Given the description of an element on the screen output the (x, y) to click on. 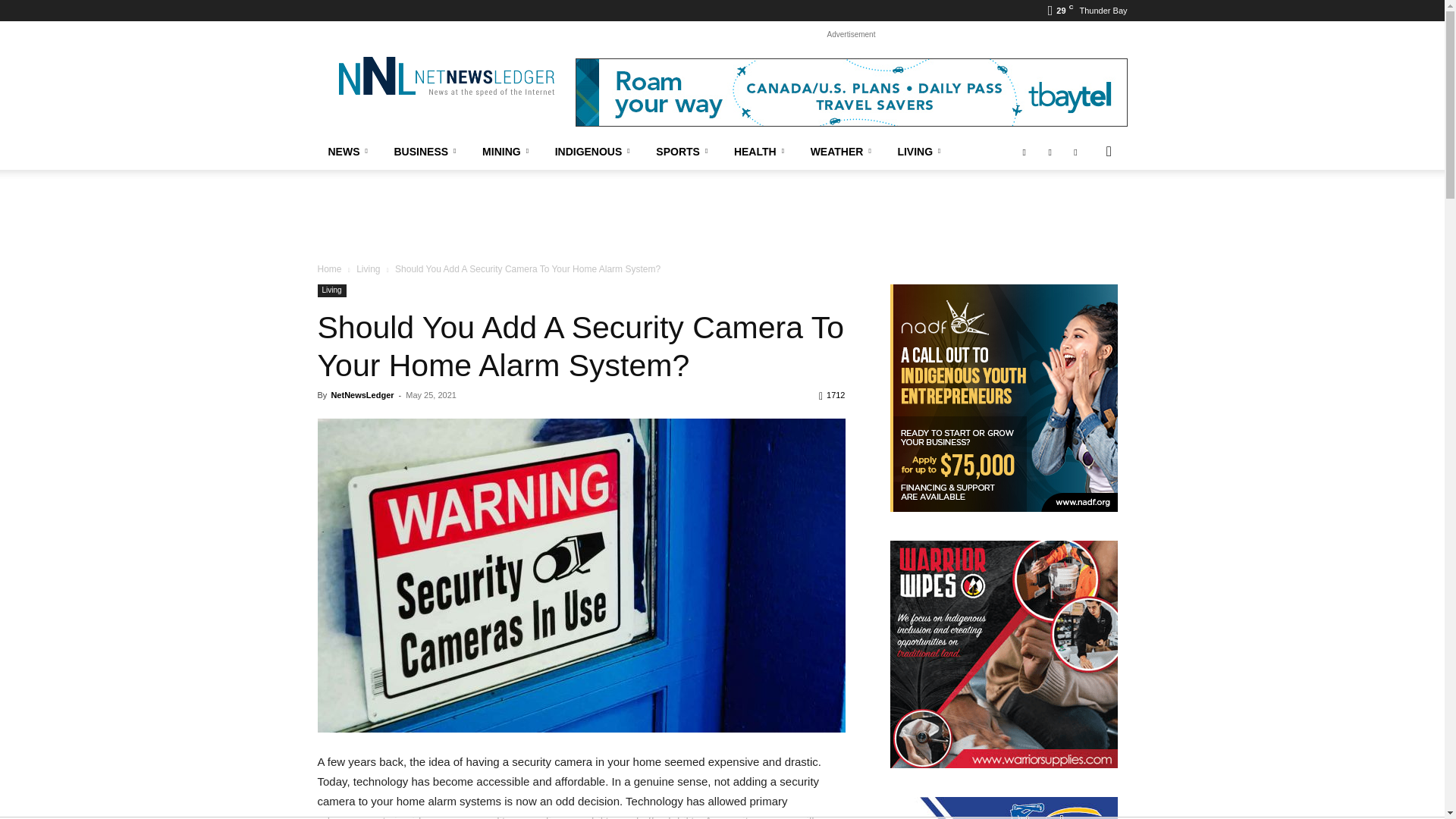
tbaytel (850, 92)
View all posts in Living (368, 268)
NetNewsLedger (445, 76)
